Given the description of an element on the screen output the (x, y) to click on. 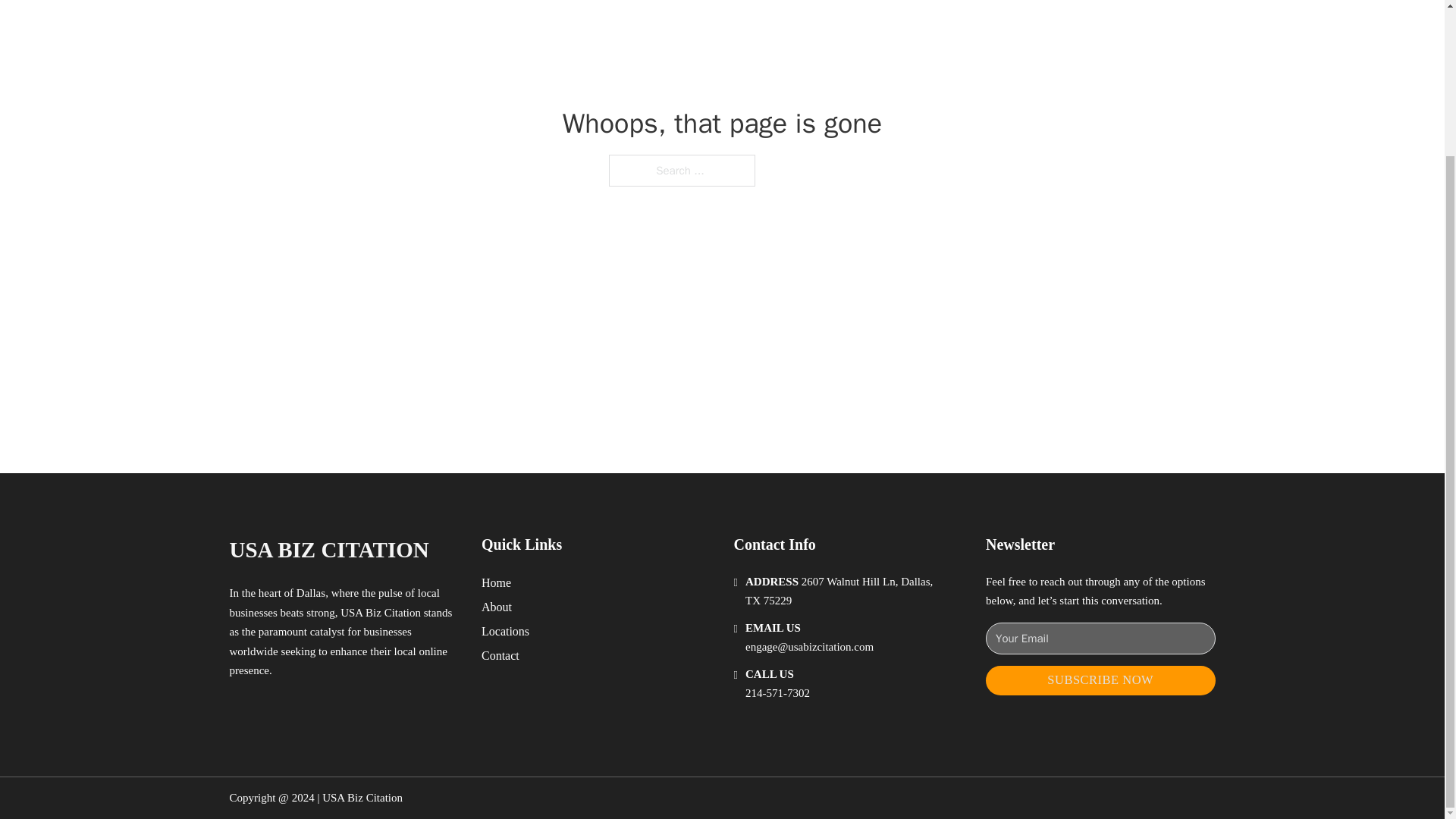
About (496, 607)
Contact (500, 655)
USA BIZ CITATION (328, 549)
Locations (505, 630)
Home (496, 582)
214-571-7302 (777, 693)
SUBSCRIBE NOW (1100, 680)
